Given the description of an element on the screen output the (x, y) to click on. 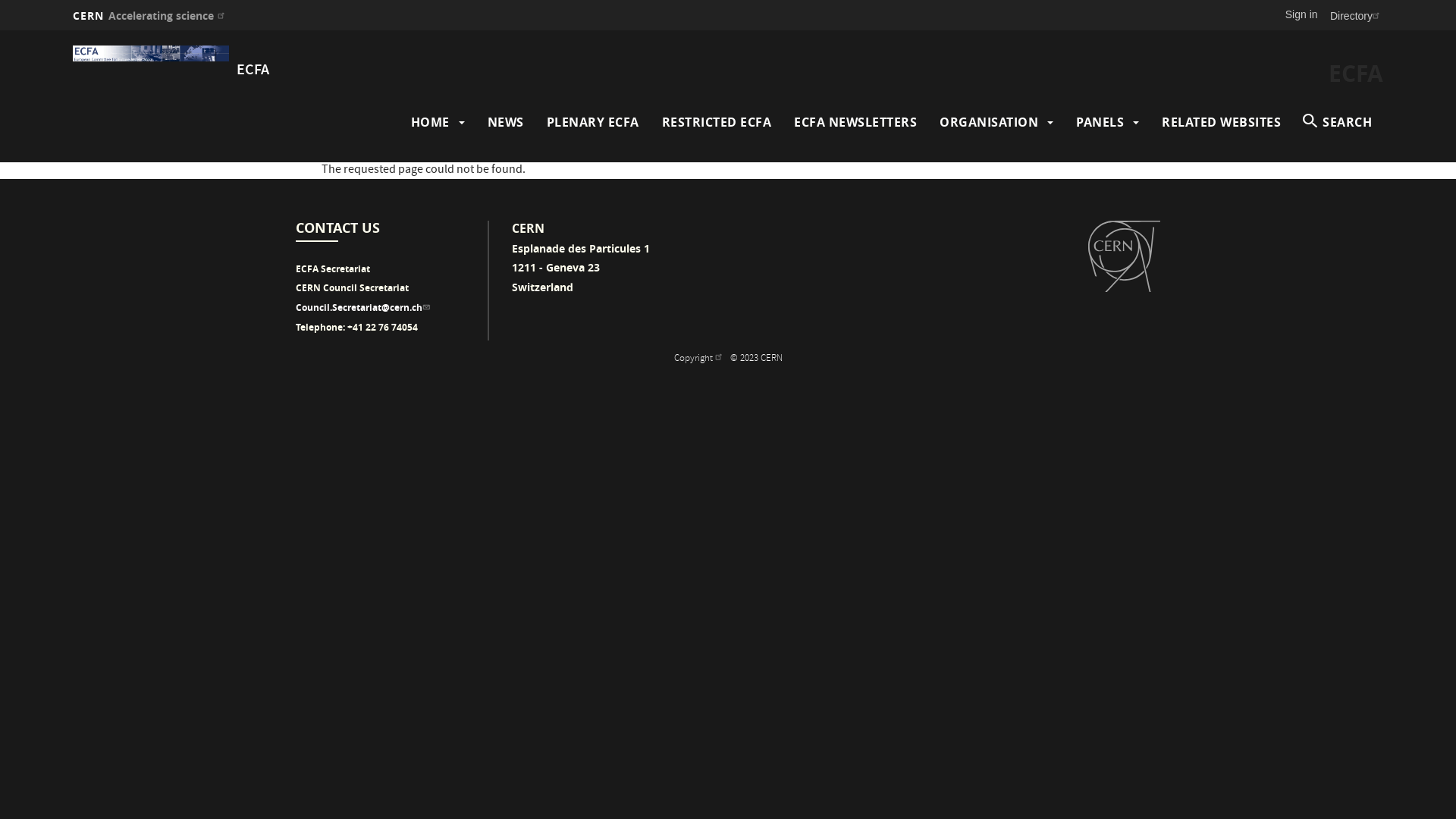
Copyright (link is external) Element type: text (698, 358)
RESTRICTED ECFA Element type: text (716, 121)
RELATED WEBSITES Element type: text (1220, 121)
Council.Secretariat@cern.ch(link sends email) Element type: text (364, 307)
ORGANISATION Element type: text (988, 121)
ECFA Element type: text (252, 70)
SEARCH Element type: text (1337, 121)
NEWS Element type: text (504, 121)
ECFA NEWSLETTERS Element type: text (854, 121)
PLENARY ECFA Element type: text (592, 121)
Home Element type: hover (150, 53)
CERN Element type: hover (1124, 255)
PANELS Element type: text (1099, 121)
Skip to main content Element type: text (0, 30)
HOME Element type: text (430, 121)
CERN Accelerating science (link is external) Element type: text (150, 14)
Directory(link is external) Element type: text (1356, 14)
Sign in Element type: text (1301, 14)
